Given the description of an element on the screen output the (x, y) to click on. 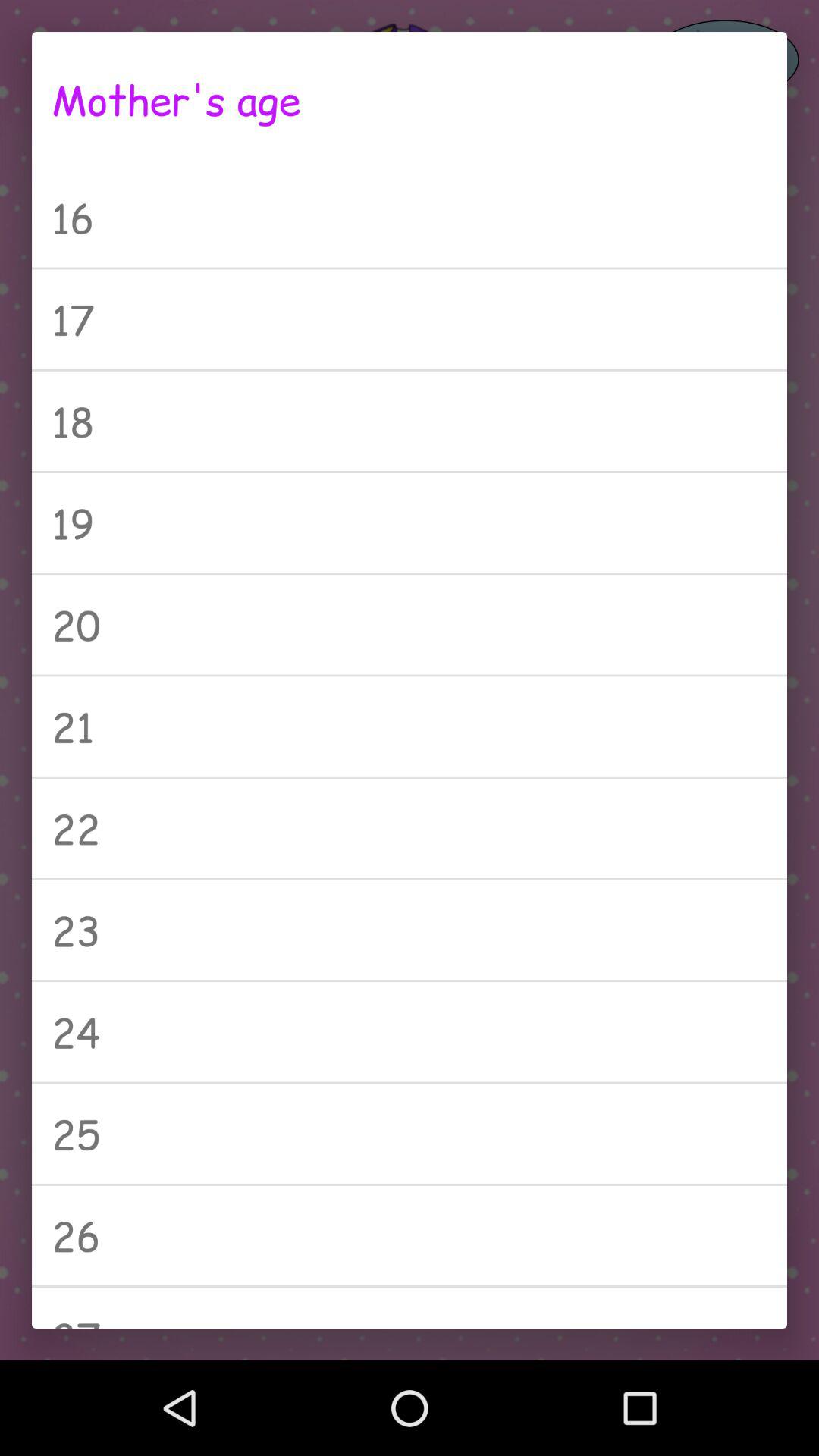
turn on the item below 24 icon (409, 1133)
